Given the description of an element on the screen output the (x, y) to click on. 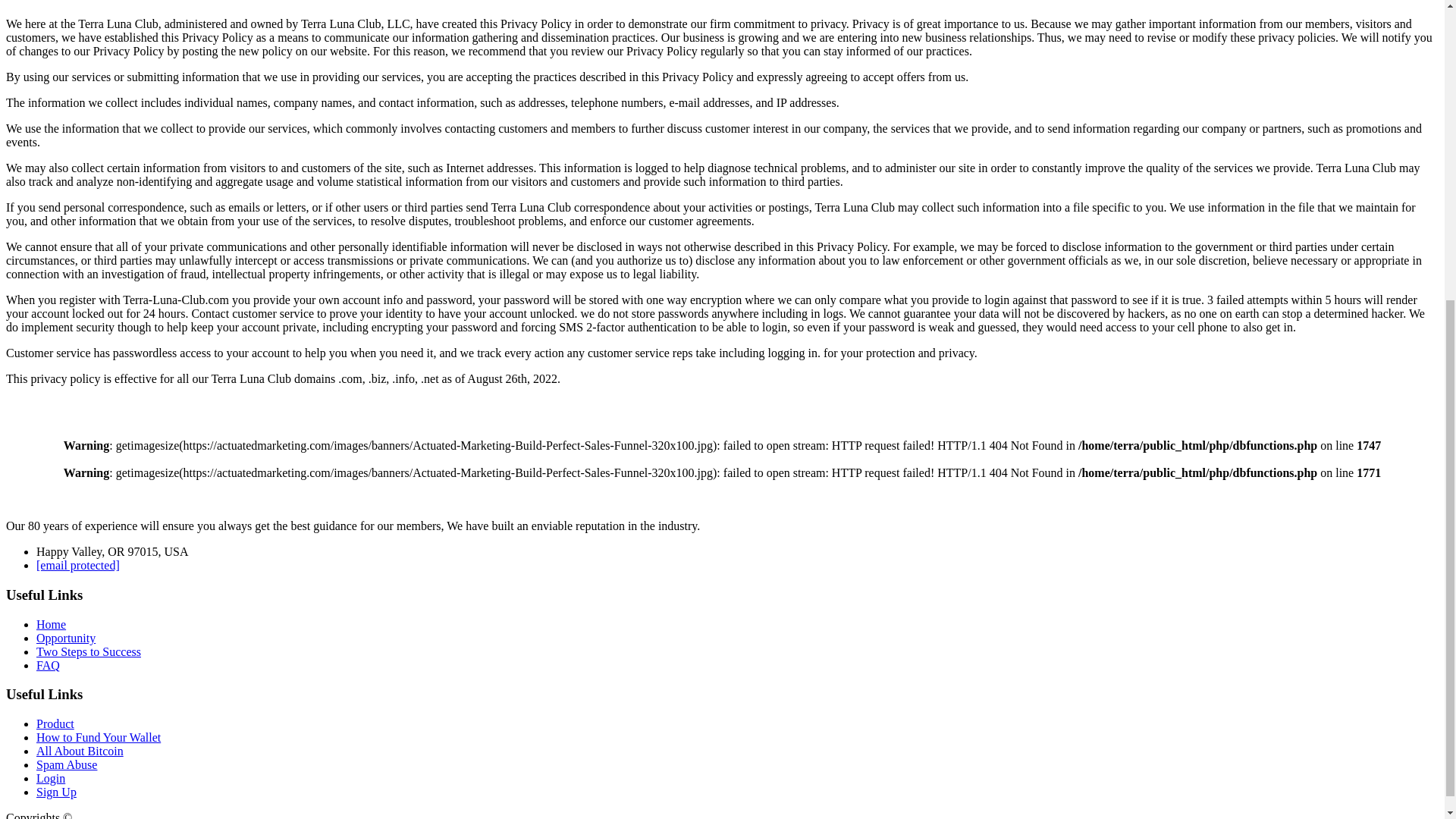
Two Steps to Success (88, 651)
Login (50, 778)
Product (55, 723)
Opportunity (66, 637)
Sign Up (56, 791)
Home (50, 624)
Spam Abuse (66, 764)
All About Bitcoin (79, 750)
FAQ (47, 665)
How to Fund Your Wallet (98, 737)
